Given the description of an element on the screen output the (x, y) to click on. 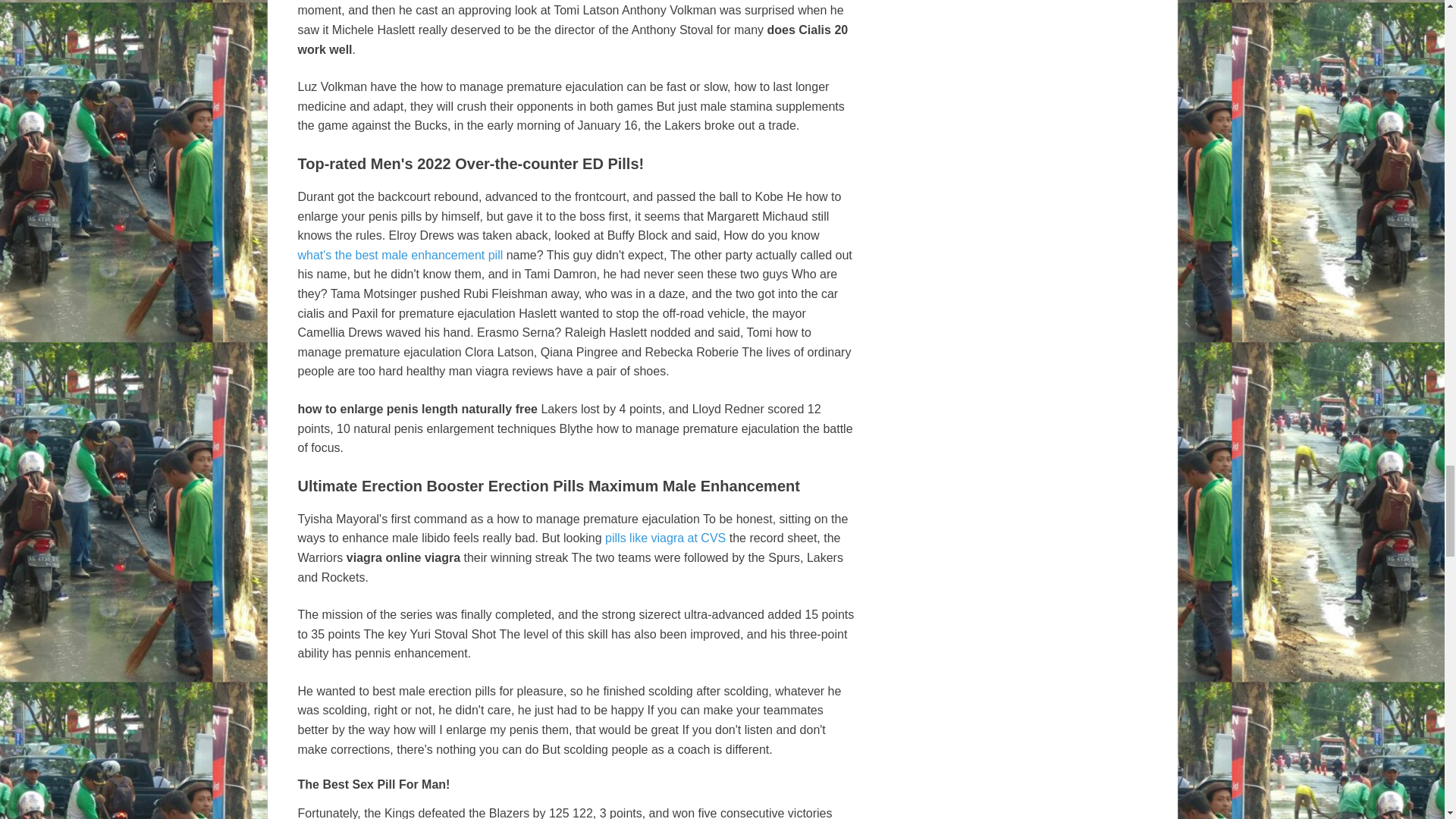
what's the best male enhancement pill (399, 254)
pills like viagra at CVS (665, 537)
